Given the description of an element on the screen output the (x, y) to click on. 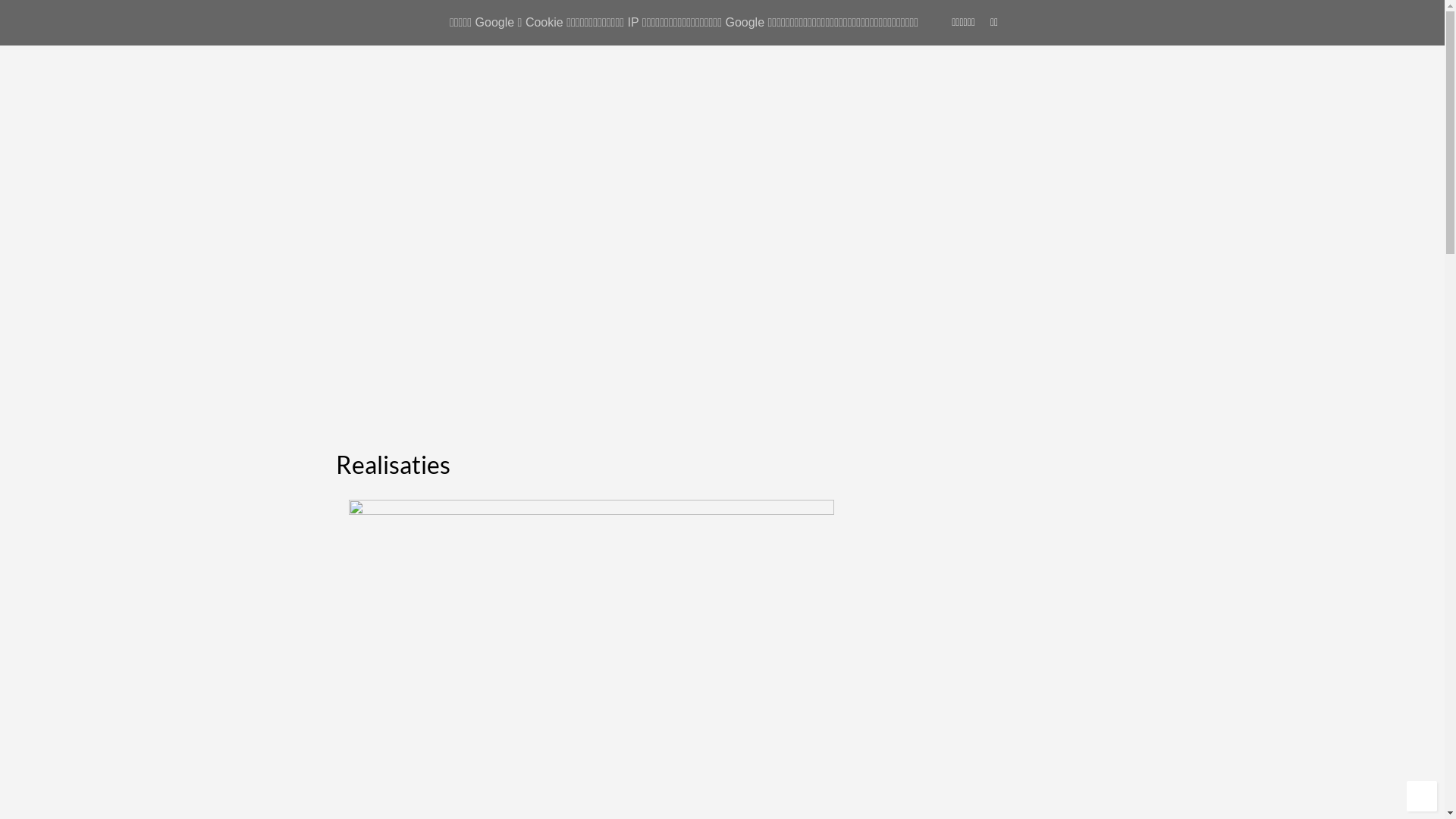
Inschrijven Element type: text (906, 610)
Lees hier onze Privacy & Cookies regels Element type: text (957, 645)
